Given the description of an element on the screen output the (x, y) to click on. 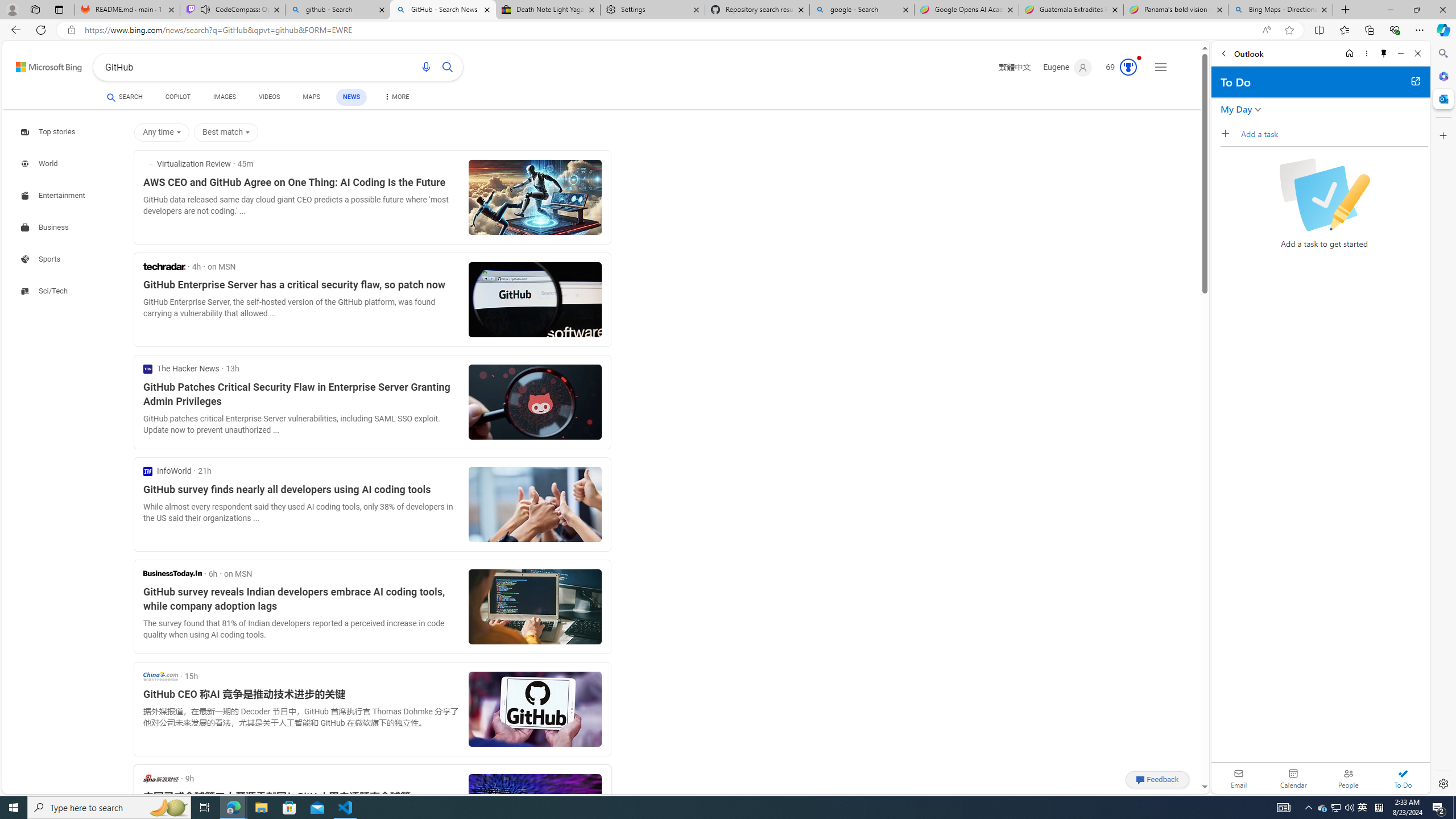
Search news about World (40, 163)
Search news about Top stories (49, 132)
Best match (225, 132)
Mute tab (204, 8)
Search news about Sci/Tech (45, 290)
Email (1238, 777)
Any time (161, 132)
Calendar. Date today is 22 (1293, 777)
SEARCH (124, 96)
